Given the description of an element on the screen output the (x, y) to click on. 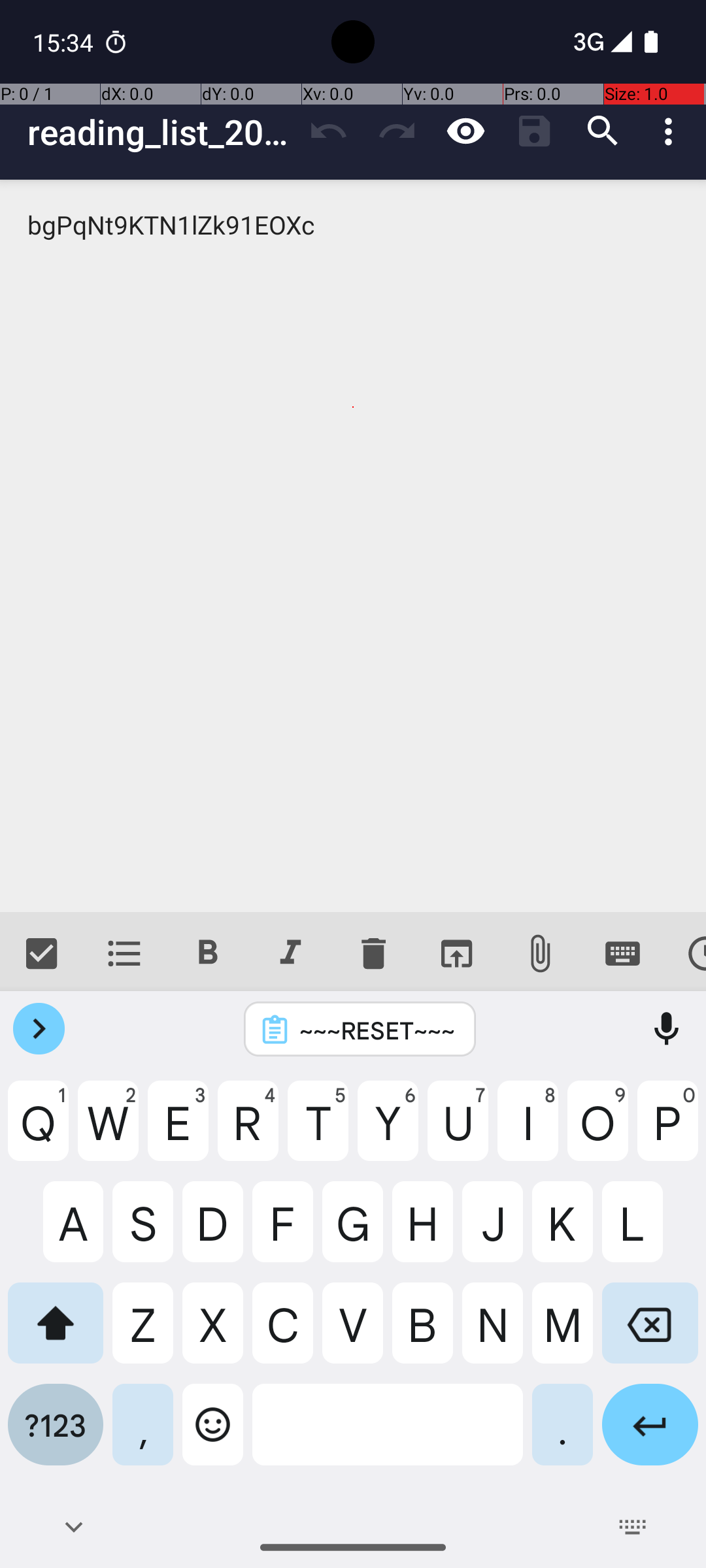
reading_list_2024_2023_03_11 Element type: android.widget.TextView (160, 131)
bgPqNt9KTN1lZk91EOXc
 Element type: android.widget.EditText (353, 545)
